Given the description of an element on the screen output the (x, y) to click on. 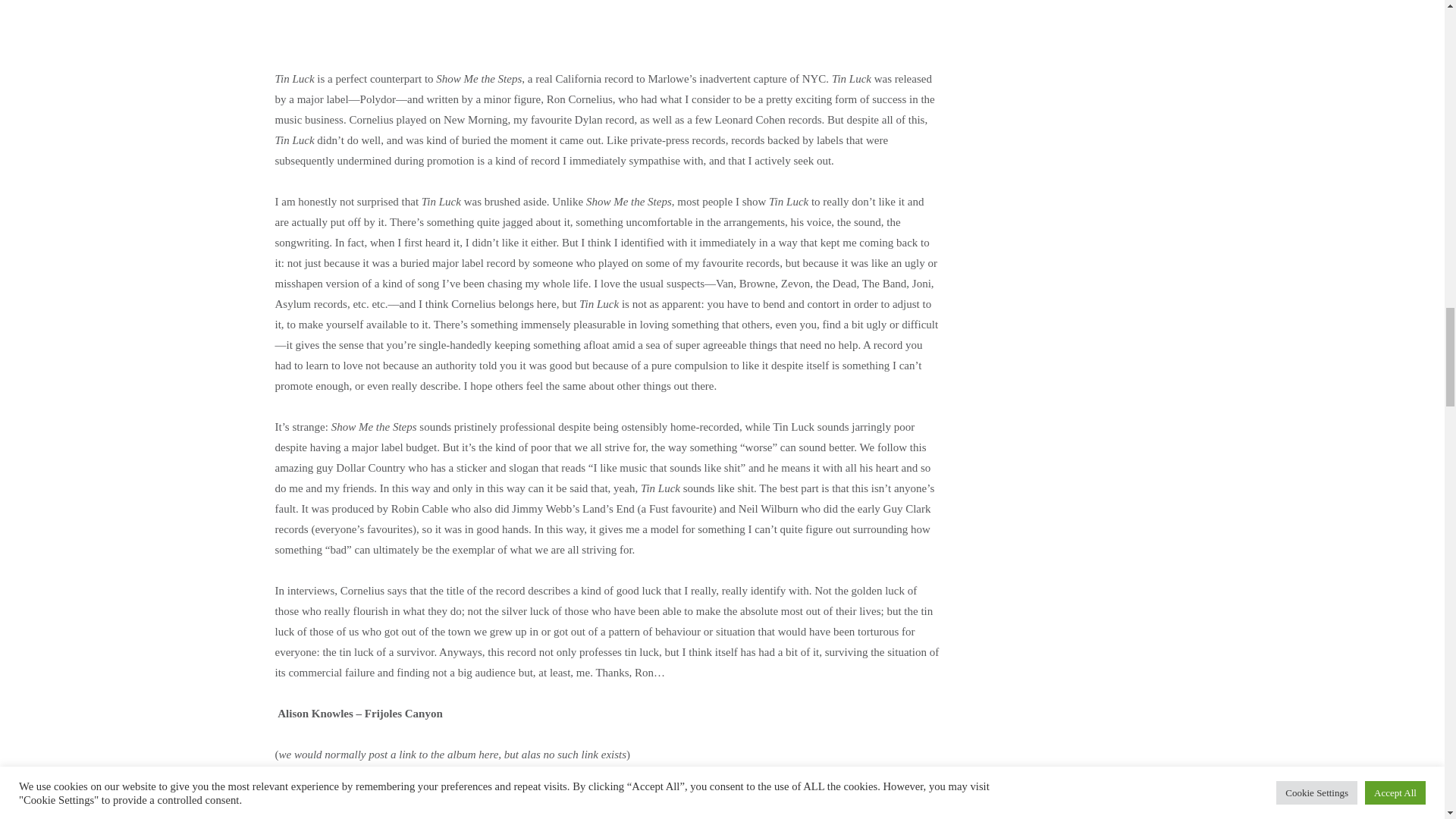
YouTube video player (607, 20)
